Given the description of an element on the screen output the (x, y) to click on. 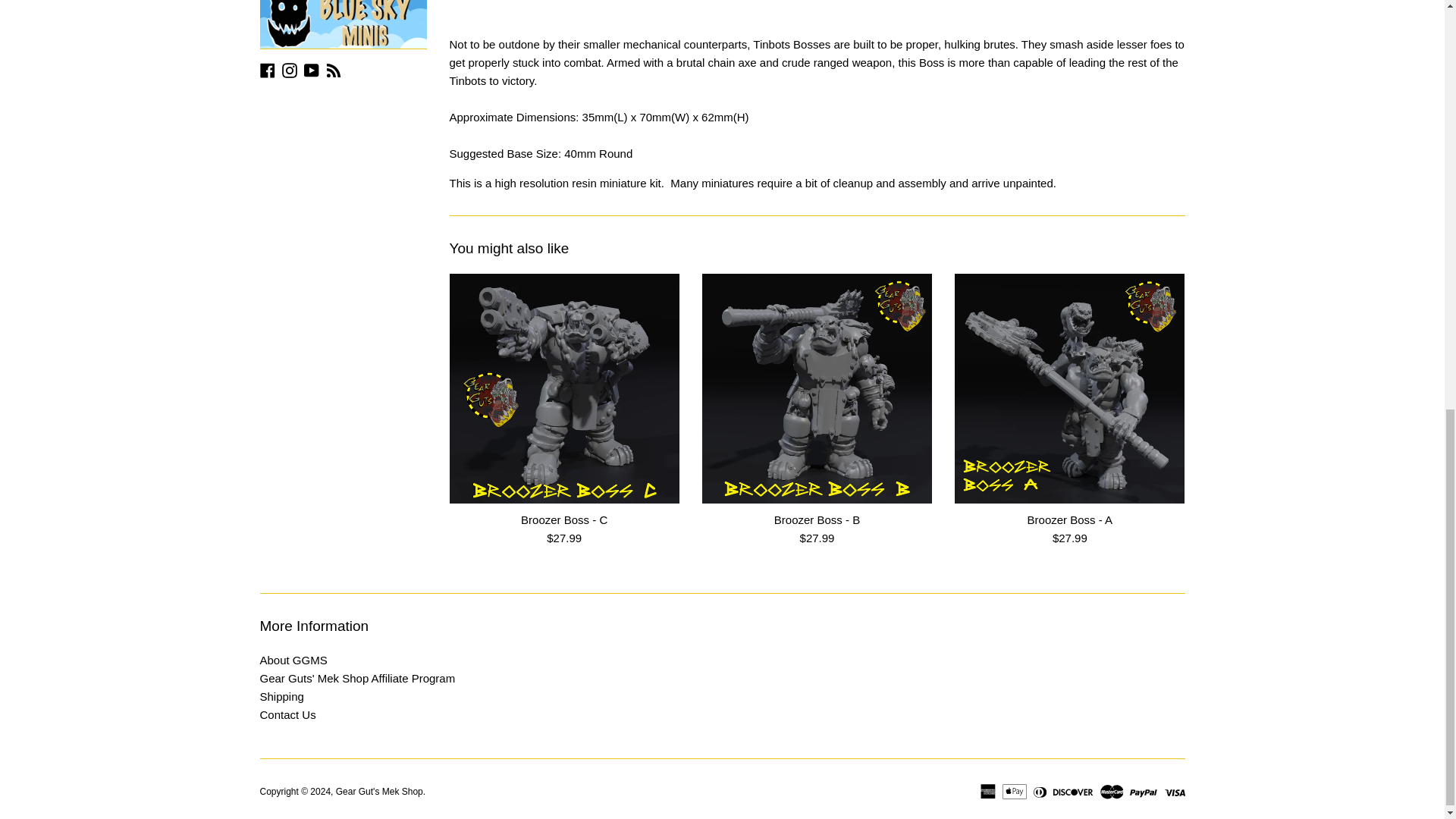
Blog (333, 69)
Facebook (267, 69)
Instagram (289, 69)
Shipping (280, 696)
Broozer Boss - C (564, 519)
Gear Guts' Mek Shop Affiliate Program (356, 677)
Gear Gut's Mek Shop on Instagram (289, 69)
Broozer Boss - C (563, 388)
YouTube (311, 69)
About GGMS (292, 659)
Broozer Boss - A (1070, 519)
Broozer Boss - A (1070, 388)
Blue Sky Minis (342, 24)
Gear Gut's Mek Shop on Facebook (267, 69)
Broozer Boss - B (816, 388)
